Given the description of an element on the screen output the (x, y) to click on. 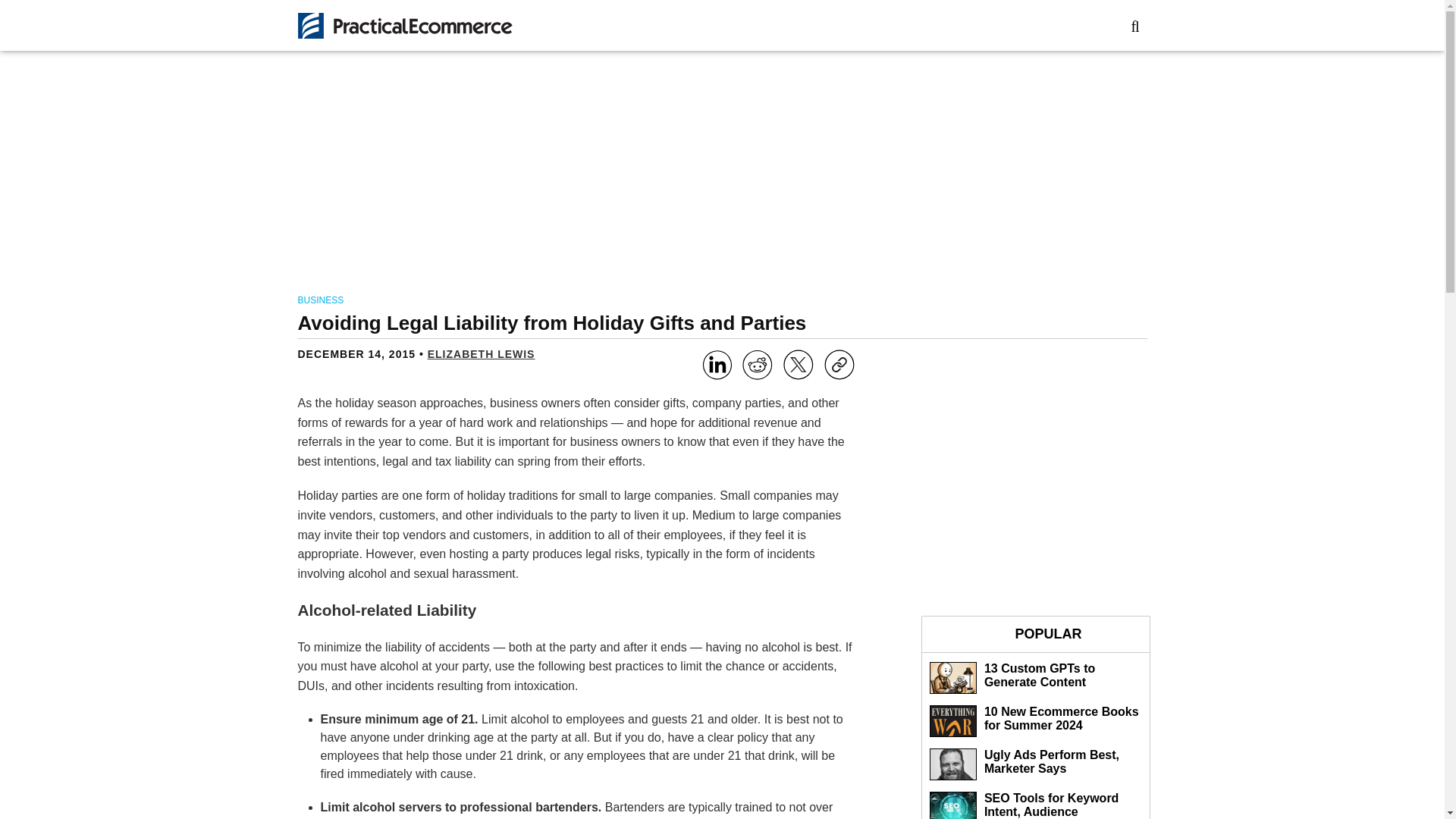
Click to share this post on Linkedin (716, 366)
Posts by Elizabeth Lewis (481, 354)
E-commerce News, How to, Definitions, Stores, Help (404, 25)
